Given the description of an element on the screen output the (x, y) to click on. 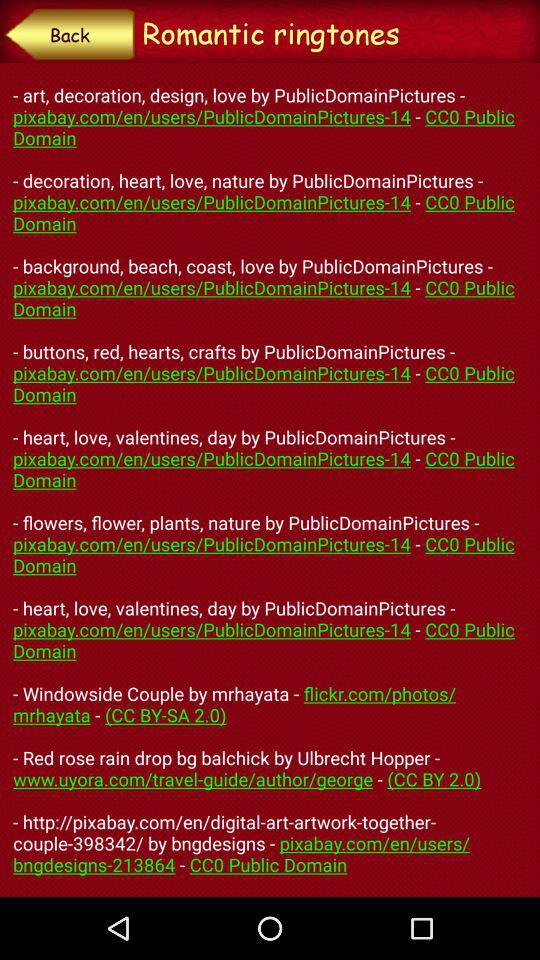
jump to the endless love songs (269, 479)
